Given the description of an element on the screen output the (x, y) to click on. 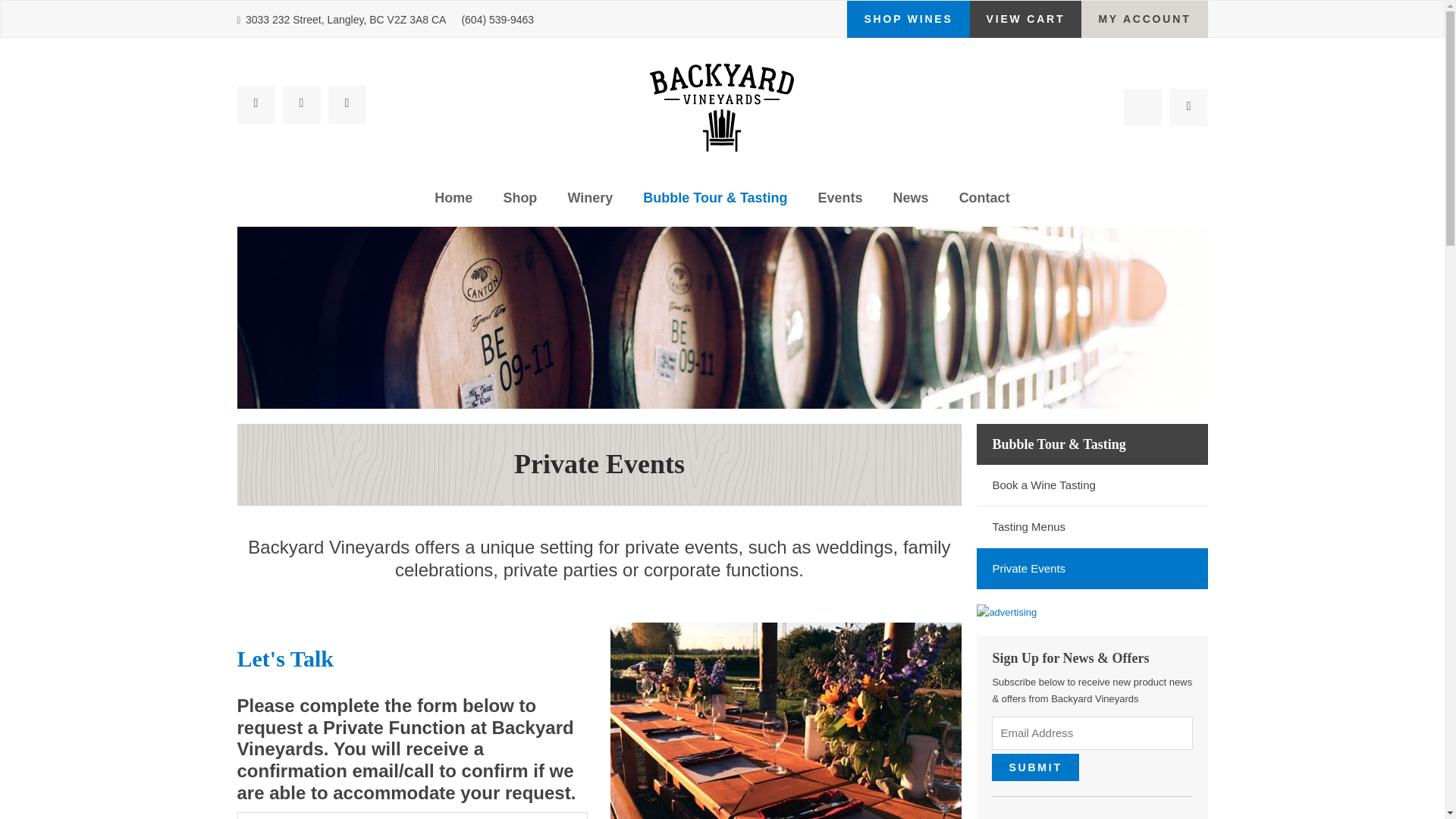
MY ACCOUNT Element type: text (1144, 18)
Private Events Element type: text (1091, 568)
Tasting Menus Element type: text (1091, 526)
Bubble Tour & Tasting Element type: text (714, 199)
Shop Element type: text (519, 199)
Book a Wine Tasting Element type: text (1091, 484)
SHOP WINES Element type: text (908, 18)
(604) 539-9463 Element type: text (497, 19)
VIEW CART Element type: text (1025, 18)
Winery Element type: text (589, 199)
Home Element type: text (453, 199)
Submit Element type: text (1034, 767)
News Element type: text (911, 199)
Events Element type: text (840, 199)
Contact Element type: text (984, 199)
